Given the description of an element on the screen output the (x, y) to click on. 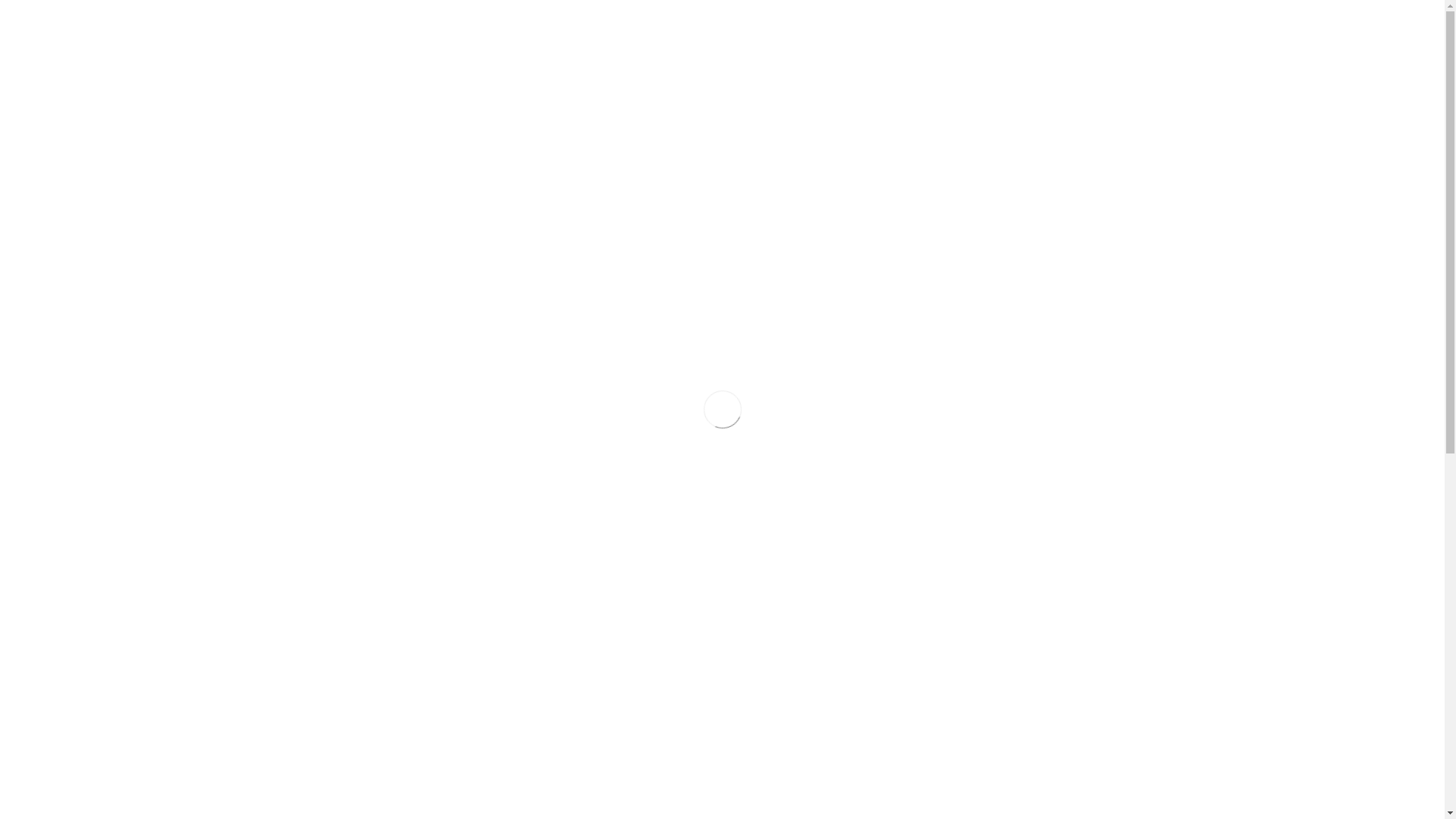
BARISTA ACCESSOIRES Element type: text (834, 65)
LAUSANNE: 021 803 23 23 Element type: text (1034, 14)
FR Element type: text (305, 14)
ACCESSOIRES DE NETTOYAGE Element type: text (989, 65)
LOGIN Element type: text (1126, 14)
Boutique Element type: text (1124, 133)
0 Element type: text (1141, 67)
